Given the description of an element on the screen output the (x, y) to click on. 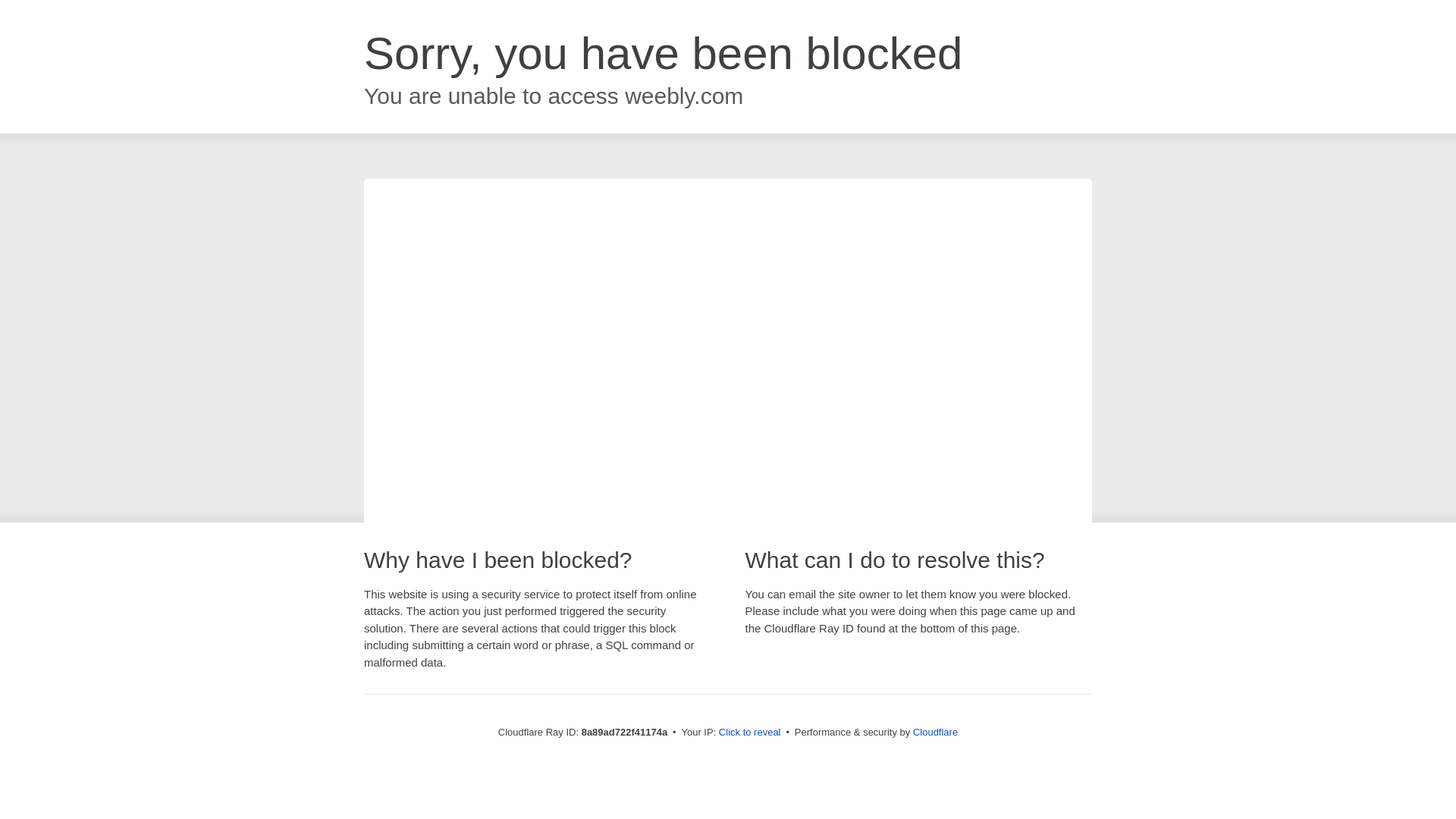
Click to reveal (749, 732)
Cloudflare (935, 731)
